Given the description of an element on the screen output the (x, y) to click on. 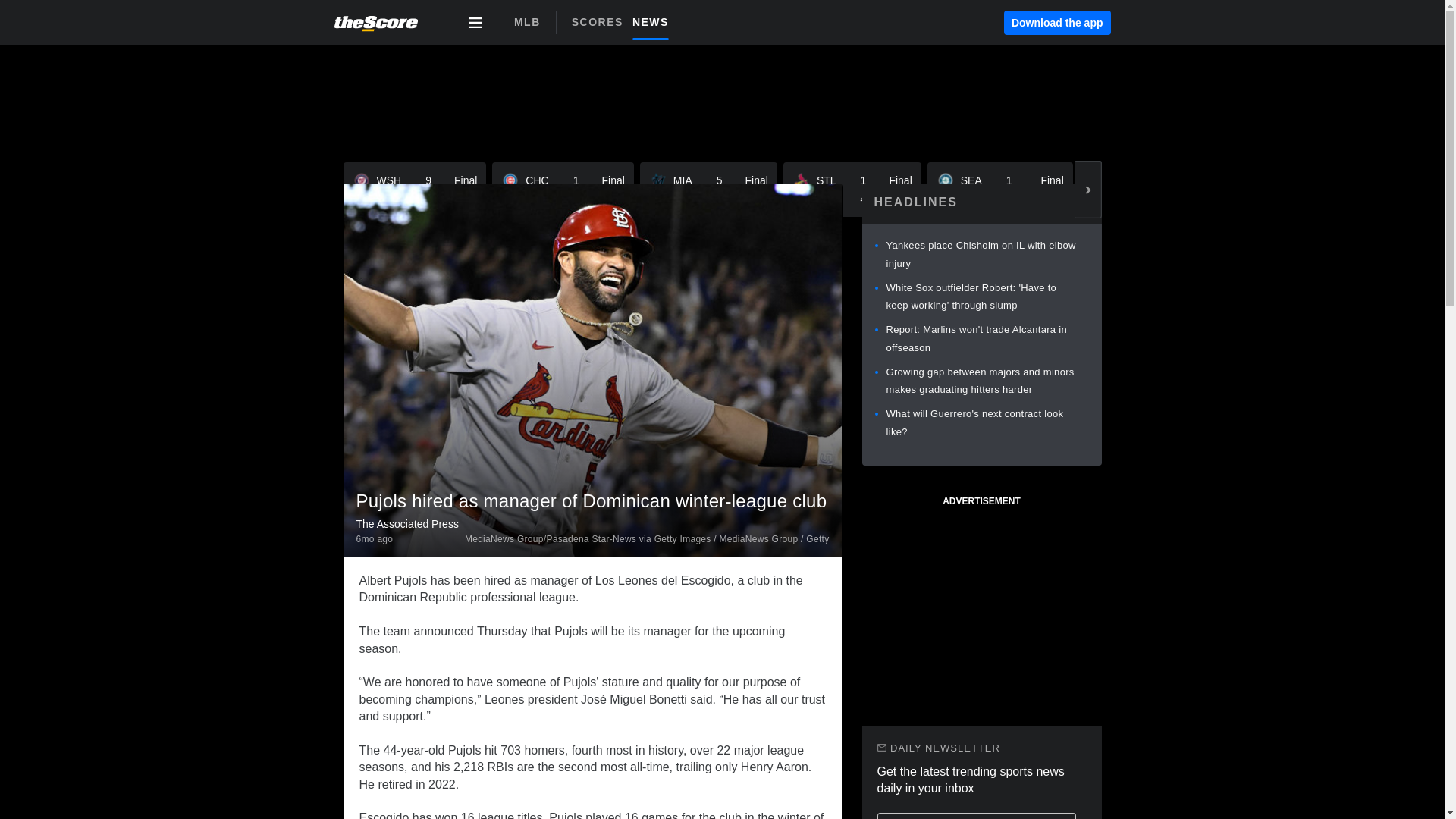
2024-02-22T23:00:06.000Z (708, 189)
3rd party ad content - bigboxDesktop (1000, 189)
NEWS (414, 189)
SCORES (562, 189)
Download the app (374, 539)
